Given the description of an element on the screen output the (x, y) to click on. 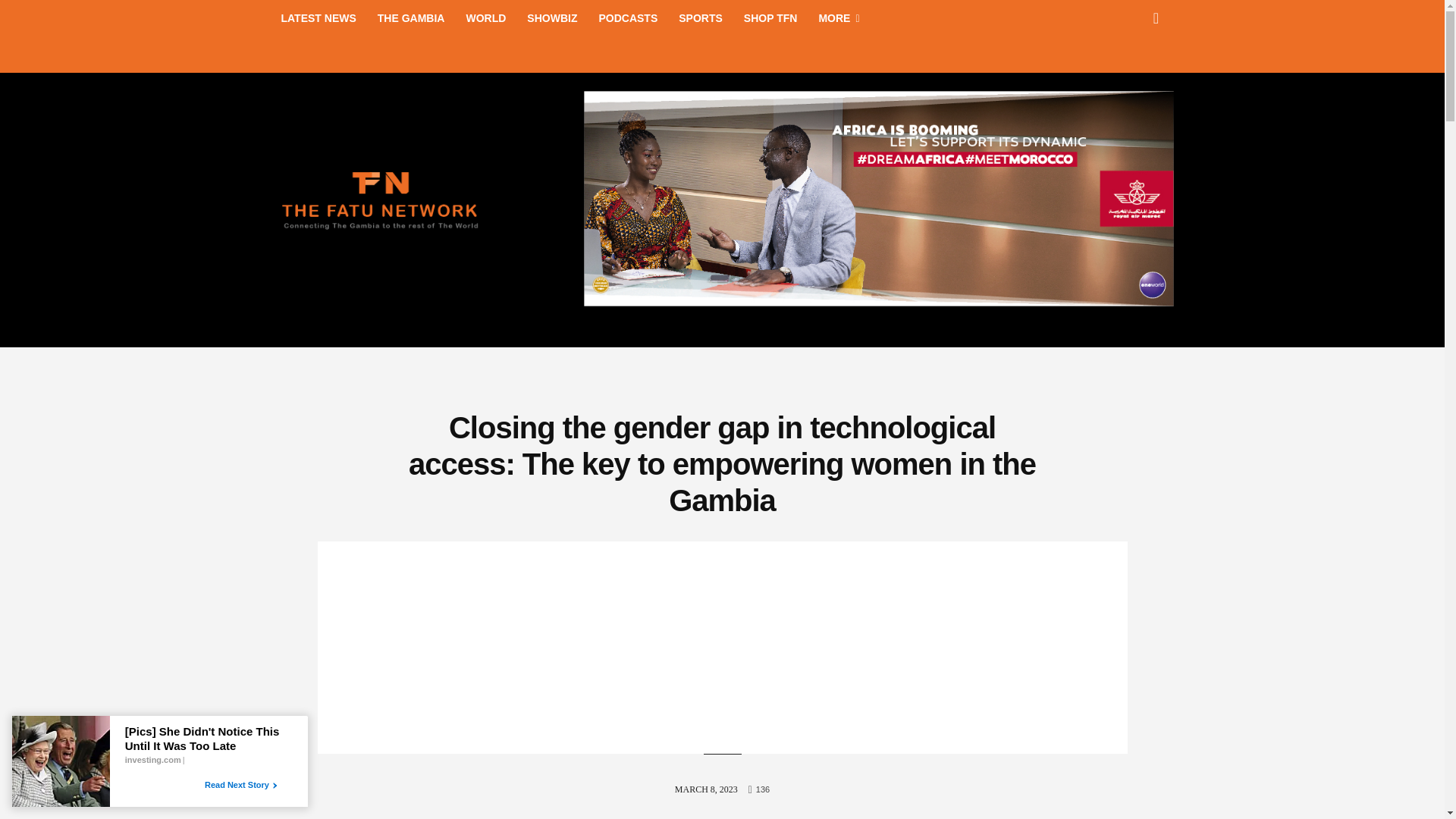
LATEST NEWS (317, 18)
SHOP TFN (770, 18)
Africa is booming (878, 302)
PODCASTS (628, 18)
THE GAMBIA (410, 18)
SPORTS (700, 18)
WORLD (485, 18)
Africa is booming (878, 198)
SHOWBIZ (552, 18)
